Given the description of an element on the screen output the (x, y) to click on. 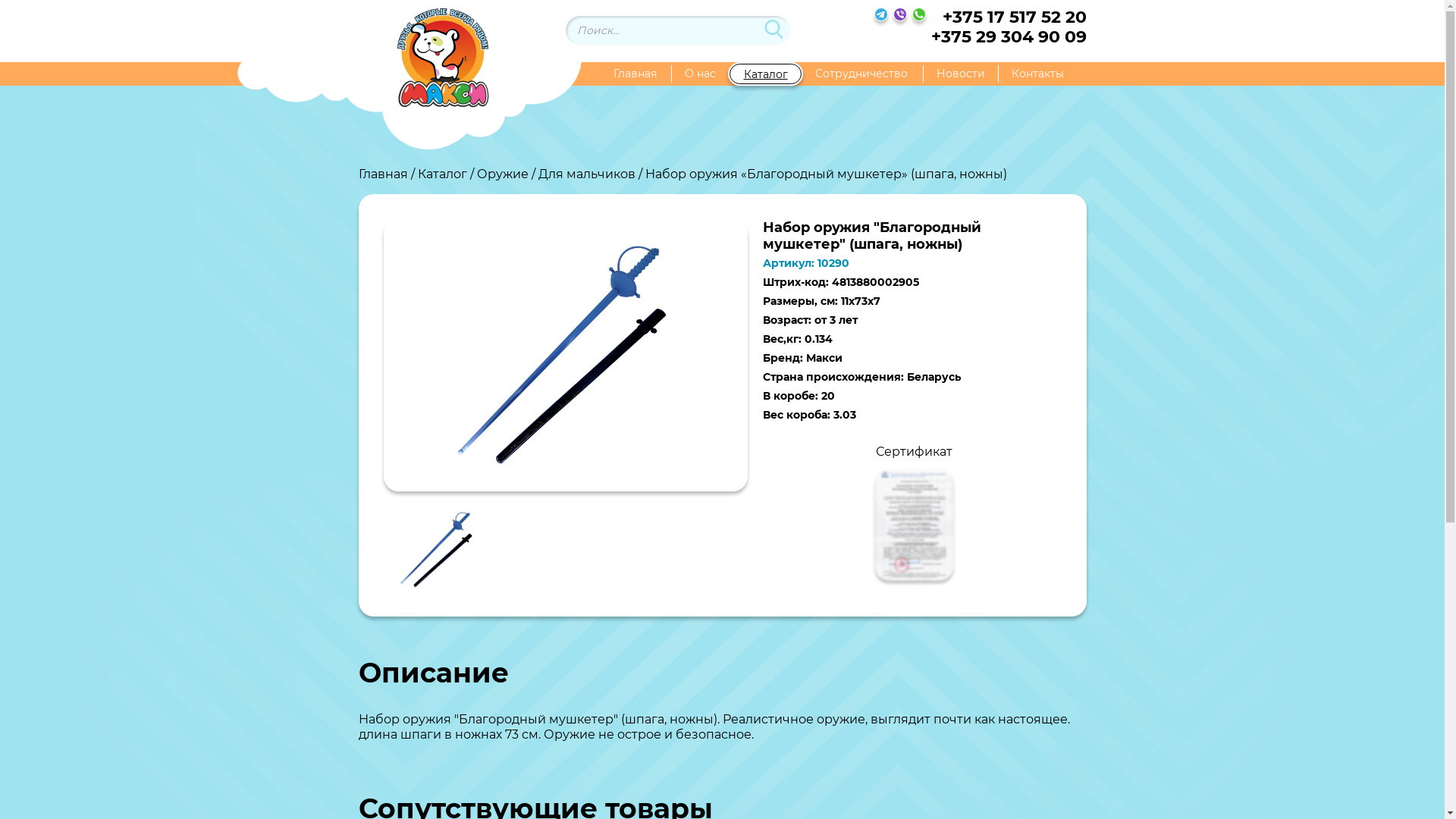
+375 17 517 52 20 Element type: text (1008, 17)
+375 29 304 90 09 Element type: text (1008, 37)
